Given the description of an element on the screen output the (x, y) to click on. 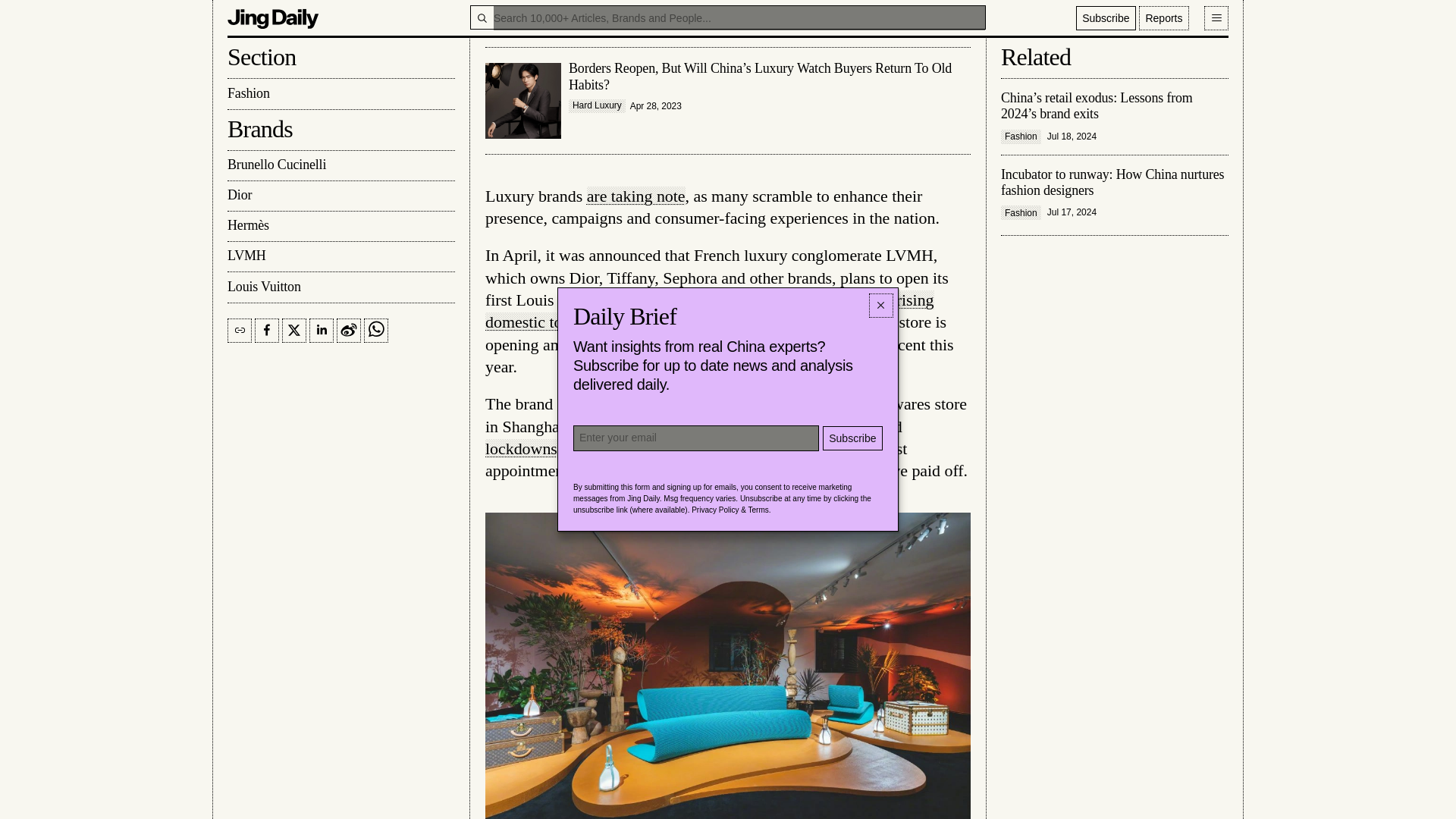
reports (531, 7)
